Given the description of an element on the screen output the (x, y) to click on. 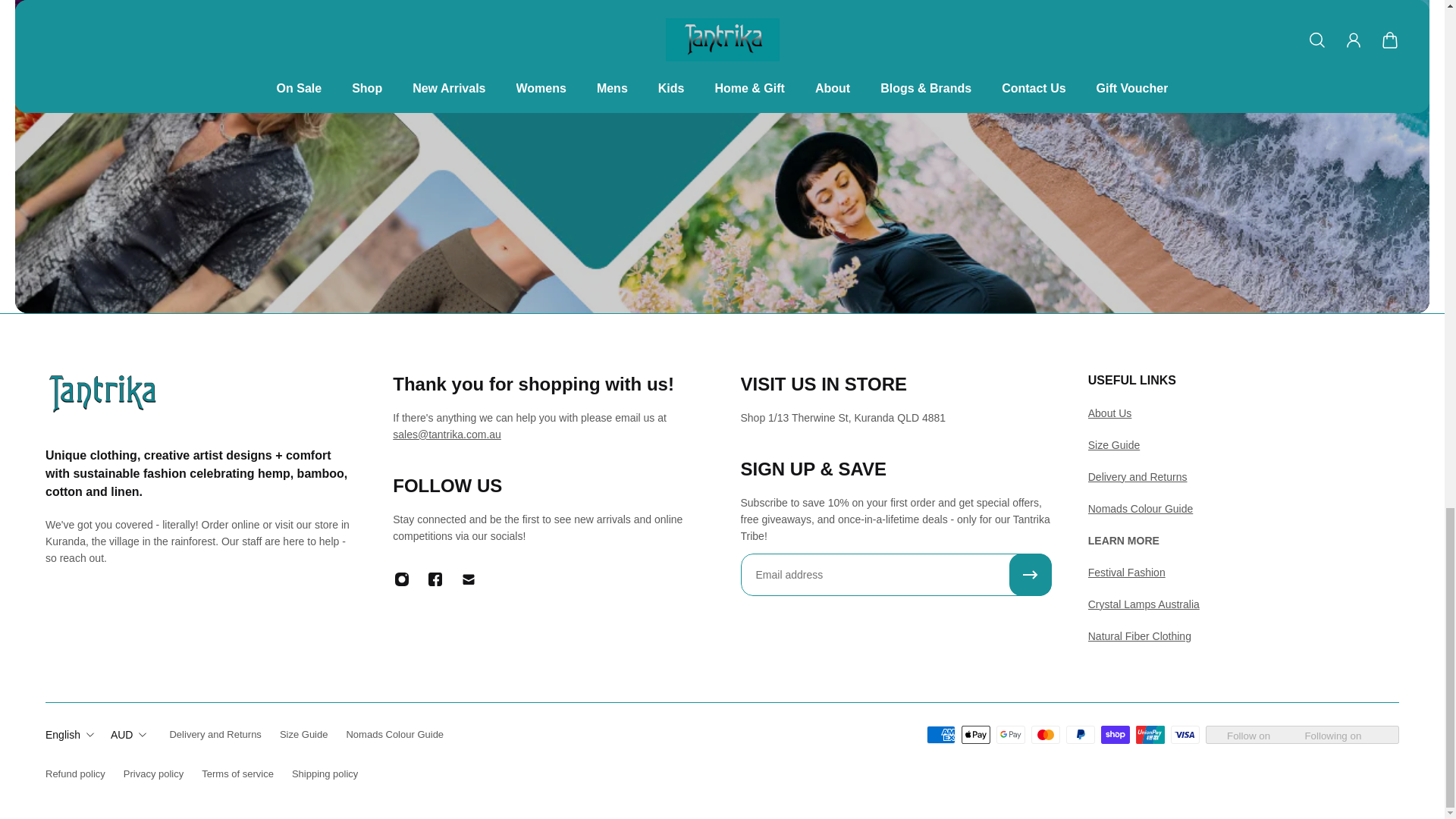
ABOUT US - TANTRIKA (1109, 413)
Delivery and Returns (1137, 476)
Crystal Lamps Australia (1143, 604)
Size Guide (1113, 444)
Nomads Colour Guide (1140, 508)
Festival Fashion Australia (1126, 572)
